Given the description of an element on the screen output the (x, y) to click on. 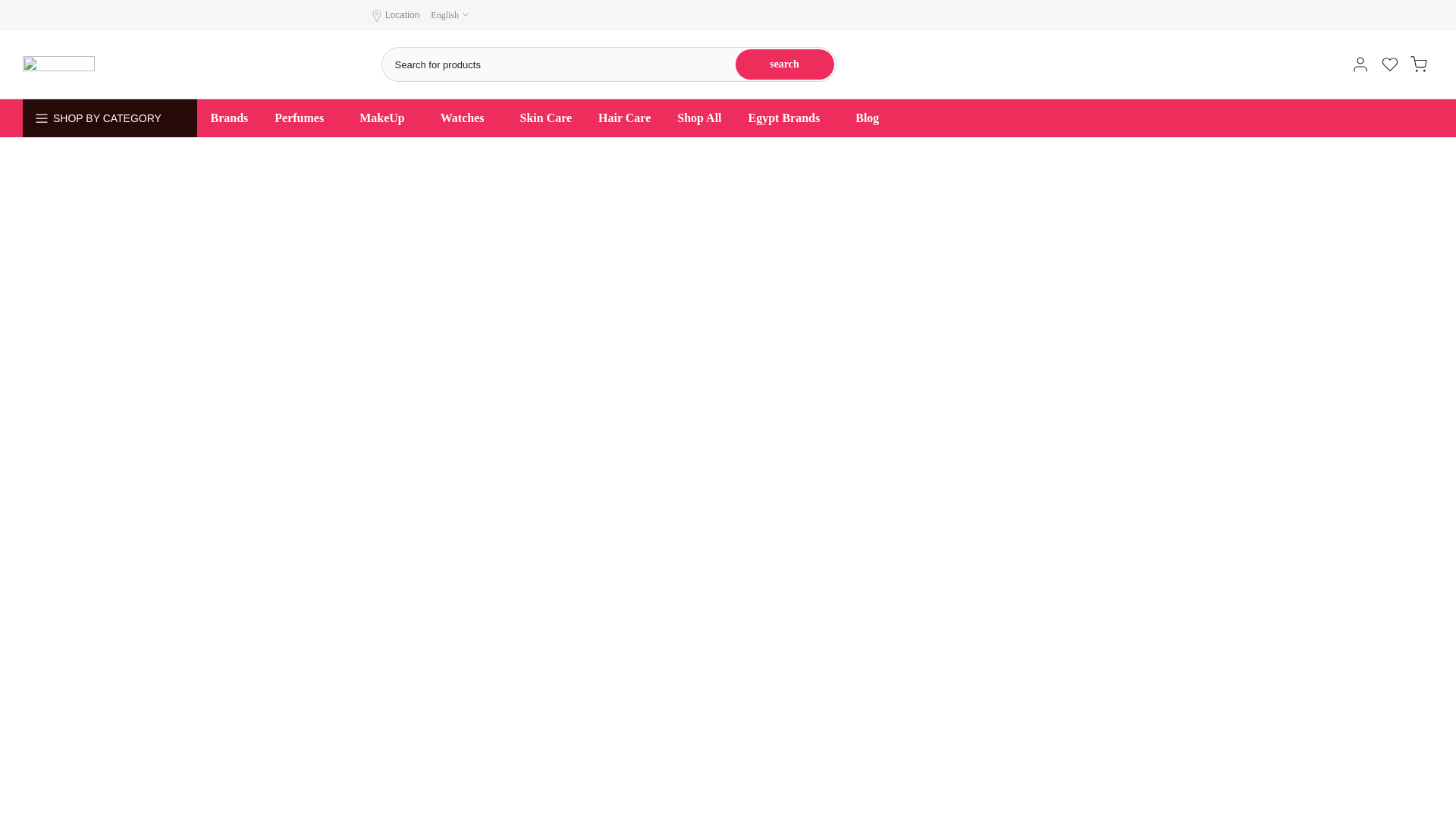
Brands (229, 117)
Hair Care (624, 117)
Blog (867, 117)
Location (402, 14)
Watches (466, 117)
Skin Care (545, 117)
Skip to content (10, 7)
Shop All (699, 117)
MakeUp (387, 117)
Perfumes (304, 117)
